Given the description of an element on the screen output the (x, y) to click on. 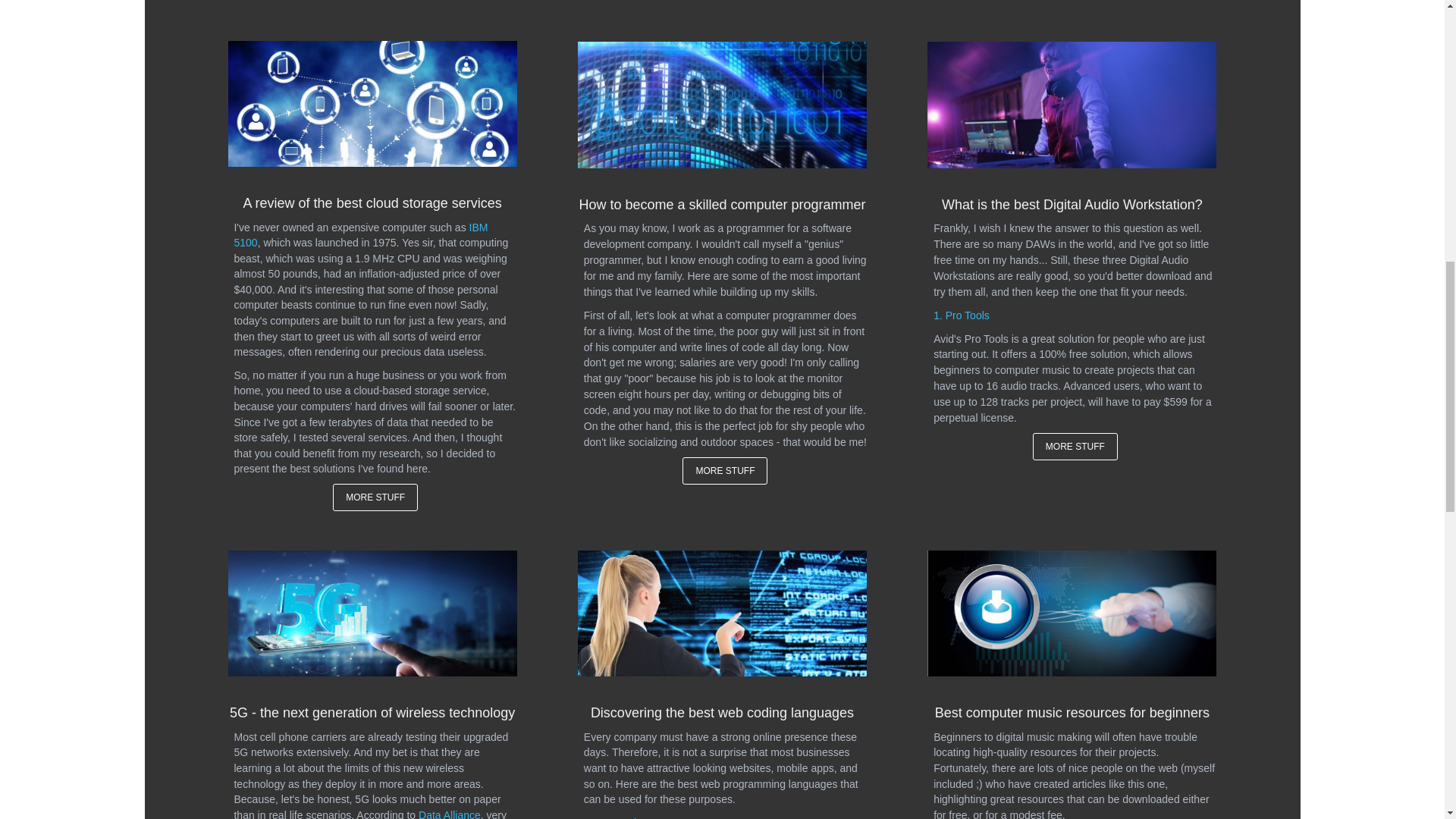
Data Alliance (449, 813)
MORE STUFF (375, 497)
IBM 5100 (359, 234)
1. JavaScript (614, 817)
MORE STUFF (1075, 446)
1. Pro Tools (961, 314)
MORE STUFF (724, 470)
